Given the description of an element on the screen output the (x, y) to click on. 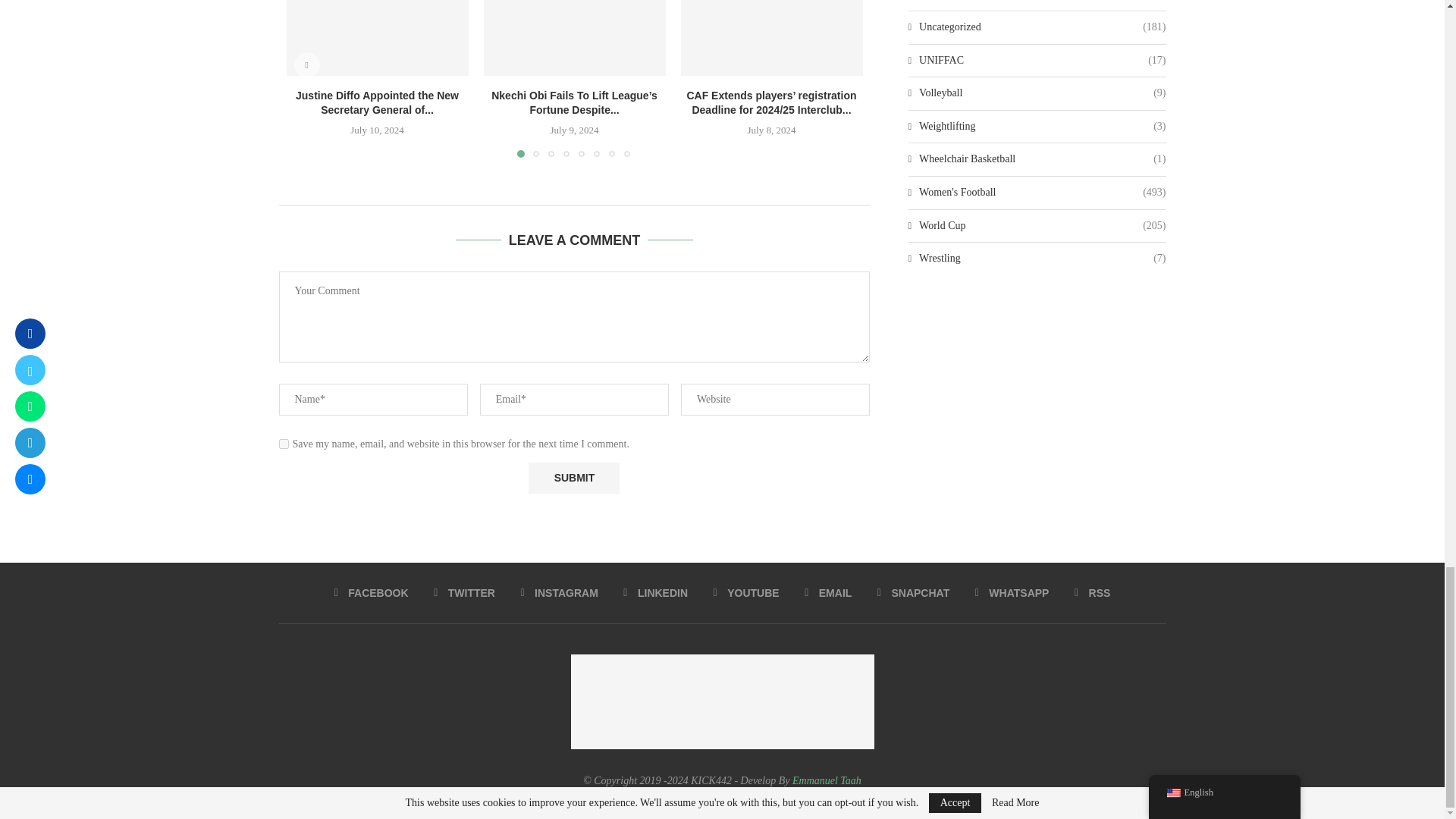
Submit (574, 477)
yes (283, 443)
